Given the description of an element on the screen output the (x, y) to click on. 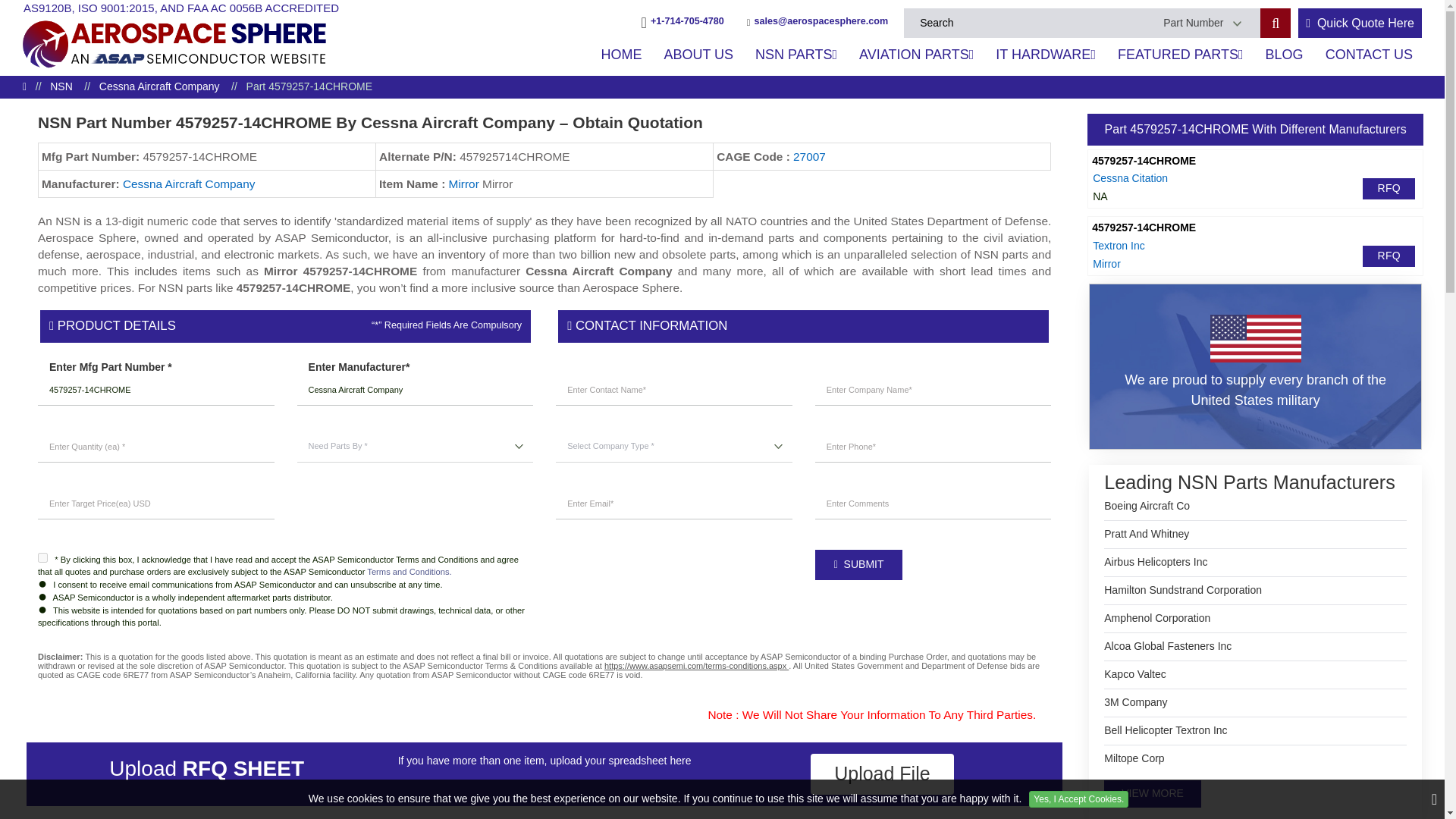
IT HARDWARE (1046, 54)
ABOUT US (697, 54)
Yanmar Diesel Engine Co Ltd (1165, 730)
Yesco Electric Products (1146, 506)
Ycl Electronics Co Ltd (1155, 562)
Yazoo Mfg Co Inc (1182, 590)
Yanmar America Corporation (1133, 758)
NSN PARTS (795, 54)
FEATURED PARTS (1180, 54)
HOME (620, 54)
CONTACT US (1369, 54)
Yazaki Industries Inc (1156, 618)
Yardney Technical Products Inc (1135, 702)
AVIATION PARTS (916, 54)
on (42, 557)
